Given the description of an element on the screen output the (x, y) to click on. 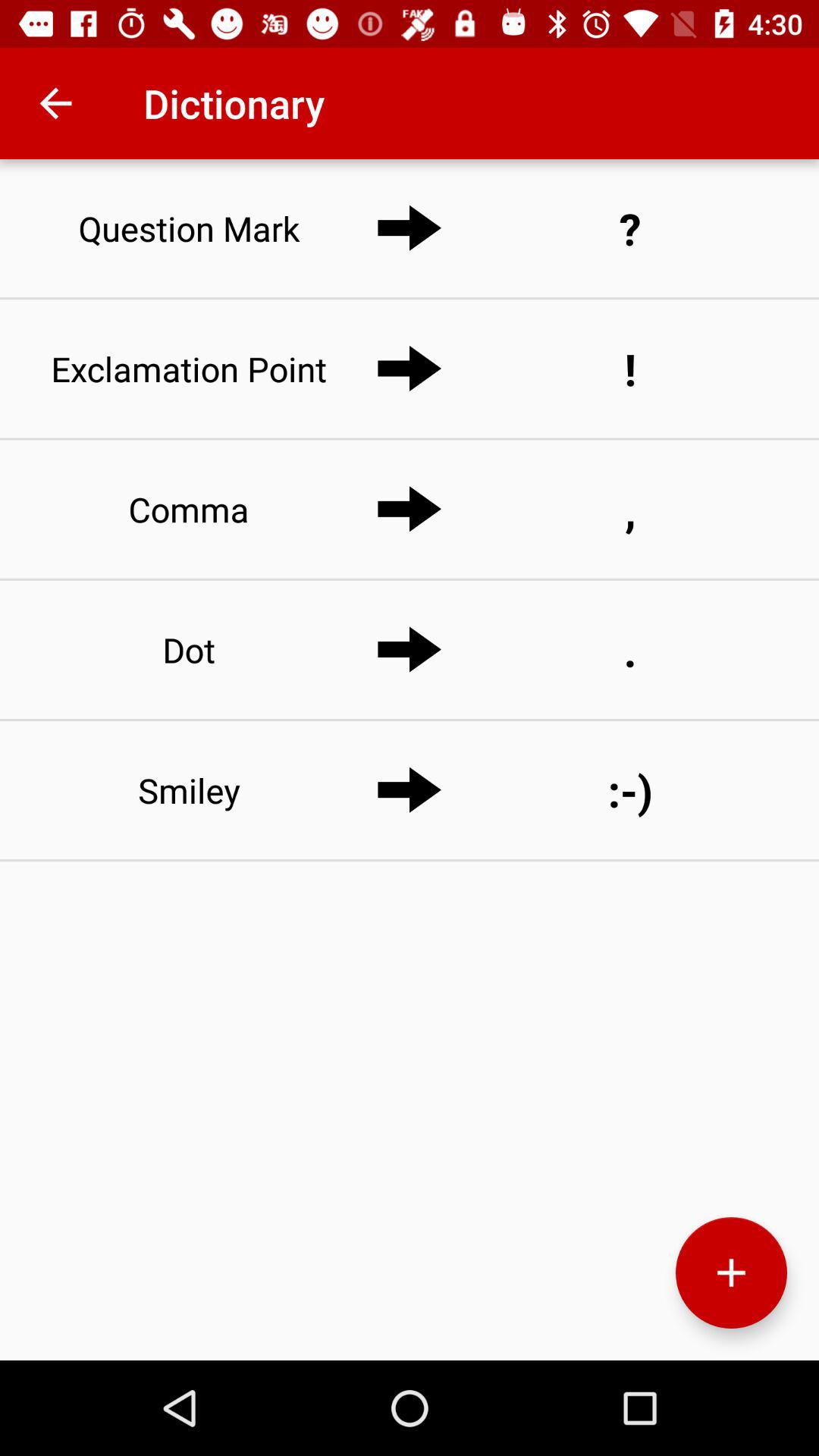
turn on the item to the left of the dictionary icon (55, 103)
